Given the description of an element on the screen output the (x, y) to click on. 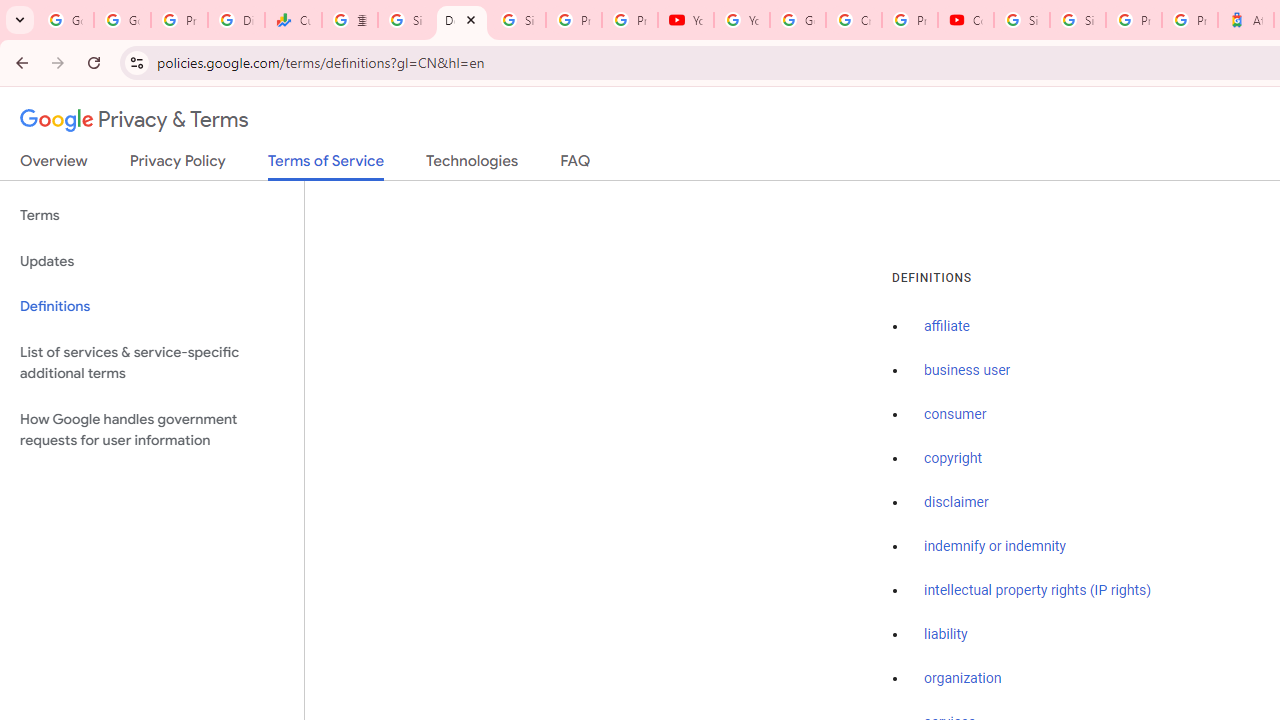
Google Workspace Admin Community (65, 20)
business user (967, 371)
List of services & service-specific additional terms (152, 362)
Google Account Help (797, 20)
Content Creator Programs & Opportunities - YouTube Creators (966, 20)
Sign in - Google Accounts (405, 20)
indemnify or indemnity (995, 546)
